Given the description of an element on the screen output the (x, y) to click on. 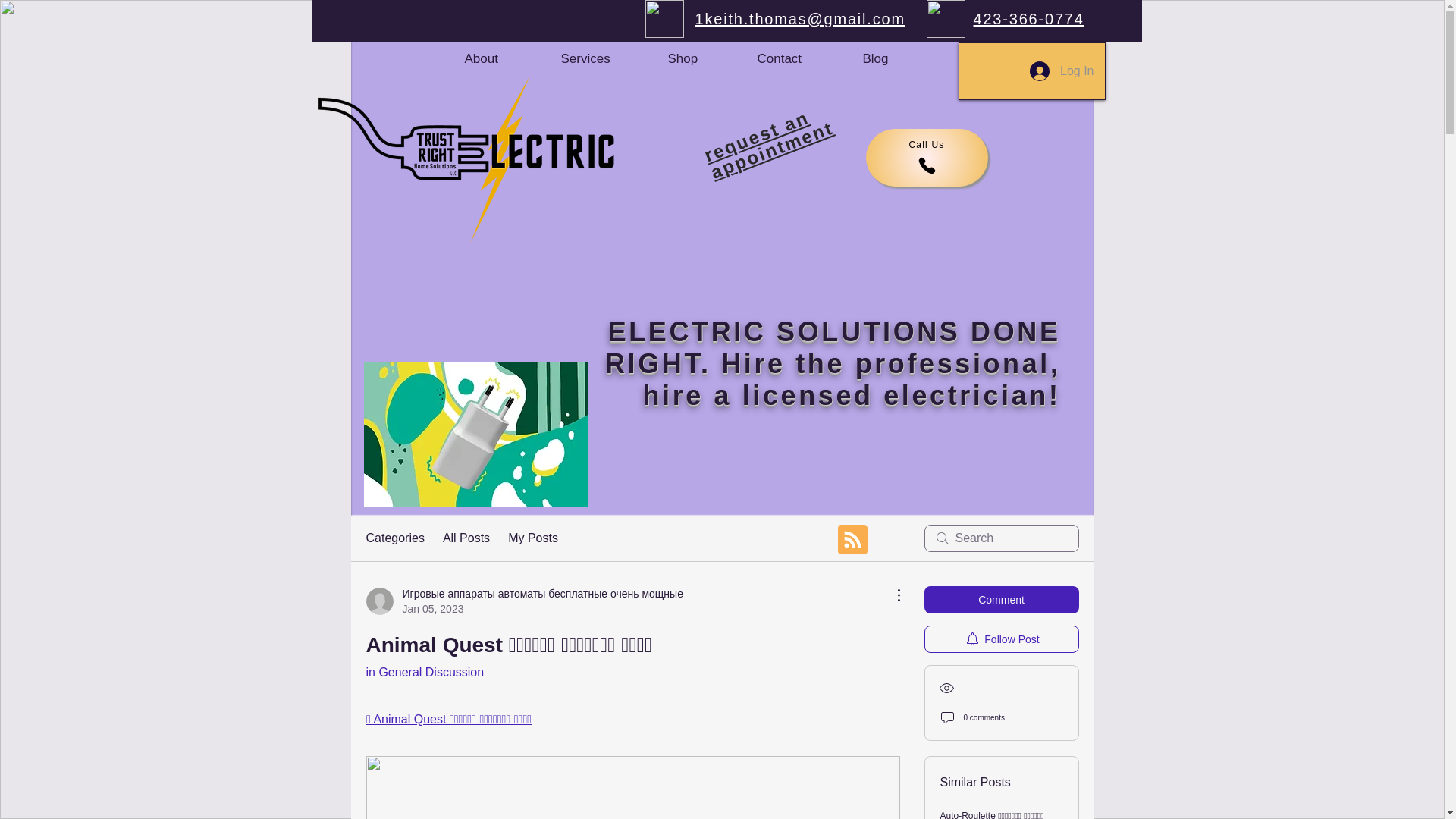
Follow Post (1000, 638)
Log In (1061, 70)
All Posts (465, 538)
Comment (1000, 599)
Contact (801, 59)
Blog (896, 59)
About (504, 59)
Shop (704, 59)
Call Us (927, 157)
request an appointment (765, 126)
Services (605, 59)
Categories (394, 538)
in General Discussion (424, 671)
My Posts (532, 538)
423-366-0774 (1029, 18)
